Given the description of an element on the screen output the (x, y) to click on. 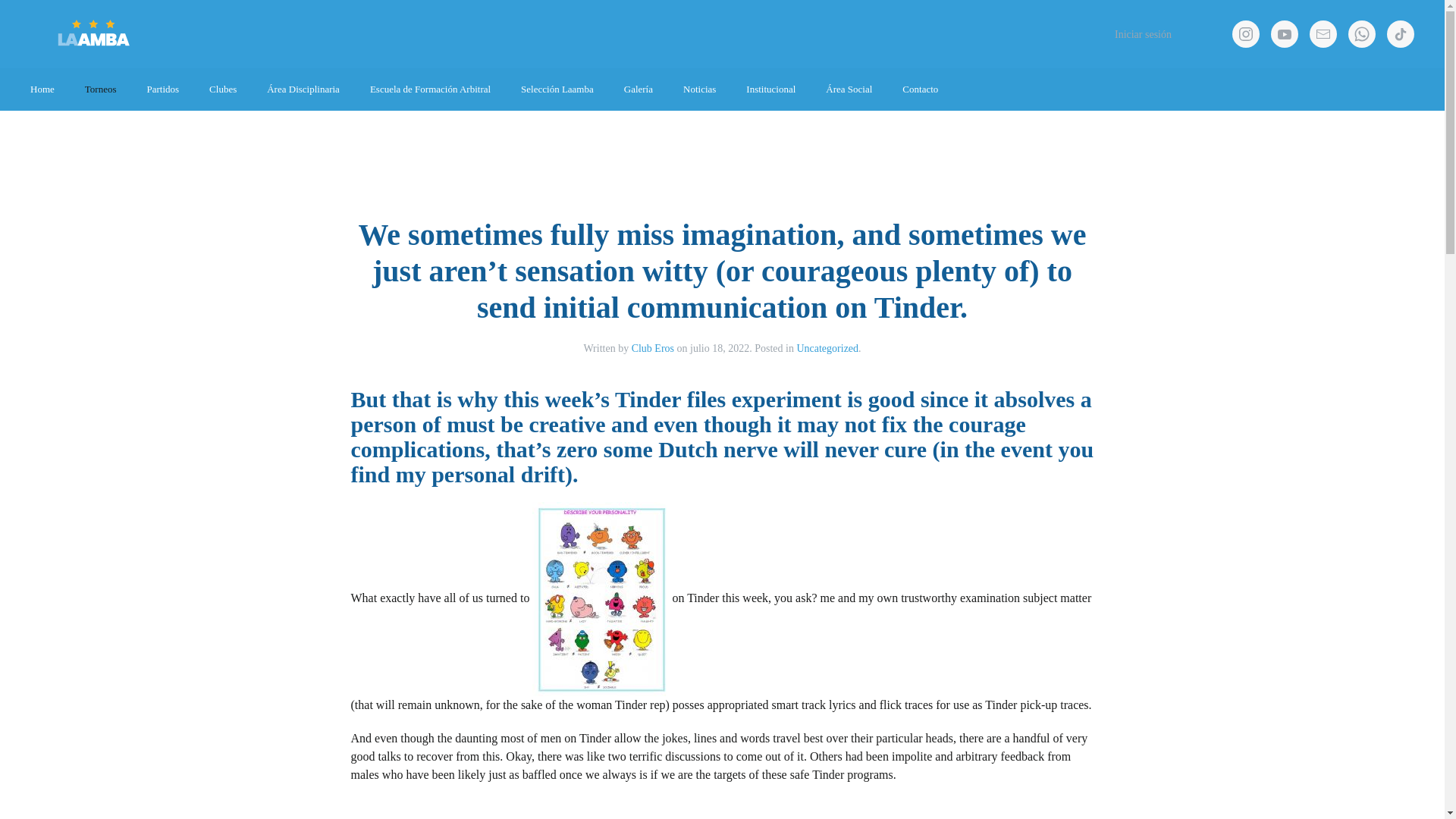
Torneos (100, 89)
Home (41, 89)
